Given the description of an element on the screen output the (x, y) to click on. 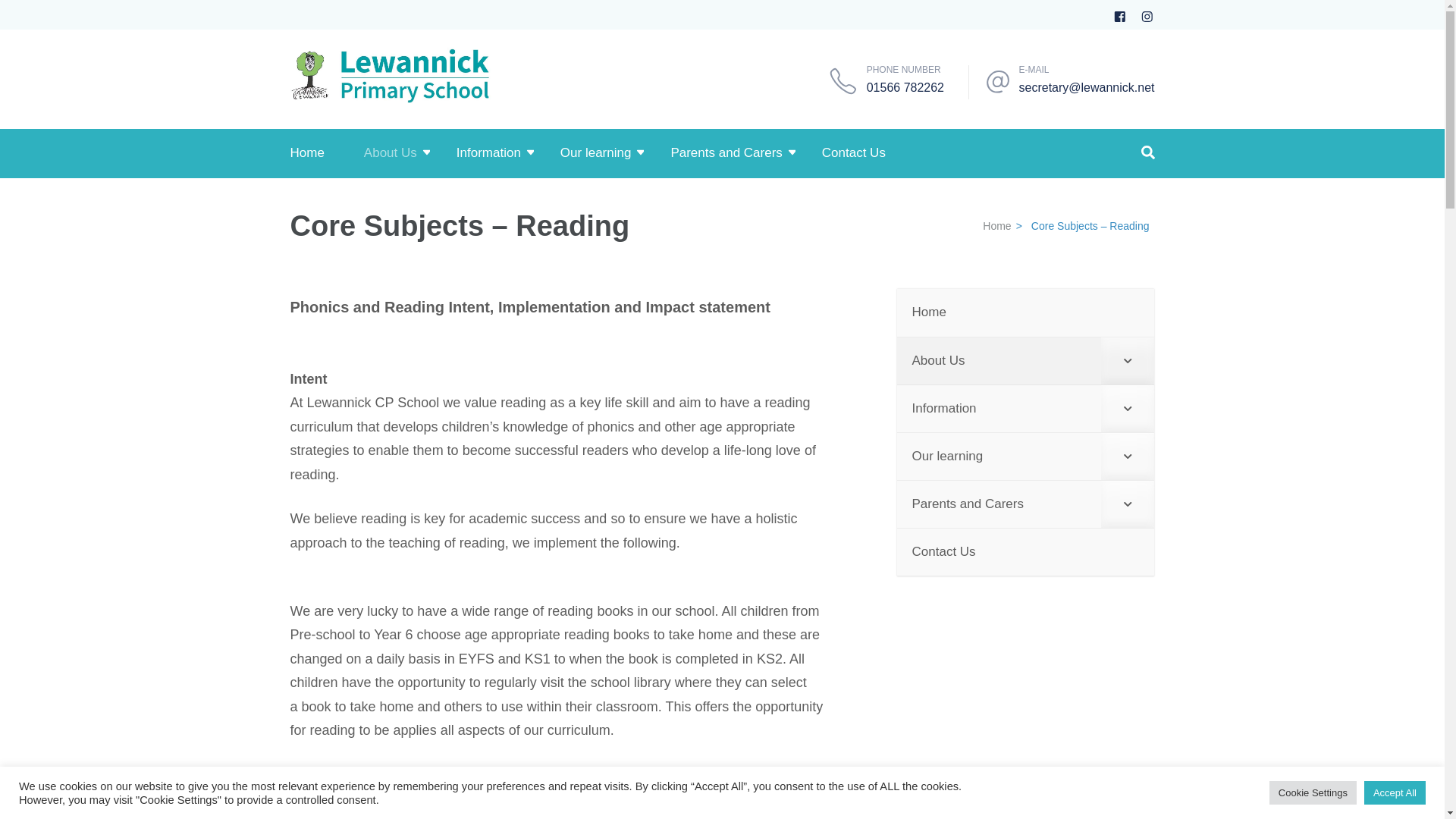
Home (306, 152)
Instagram (1147, 14)
Facebook (1119, 14)
About Us (390, 152)
Information (489, 152)
01566 782262 (904, 87)
